Given the description of an element on the screen output the (x, y) to click on. 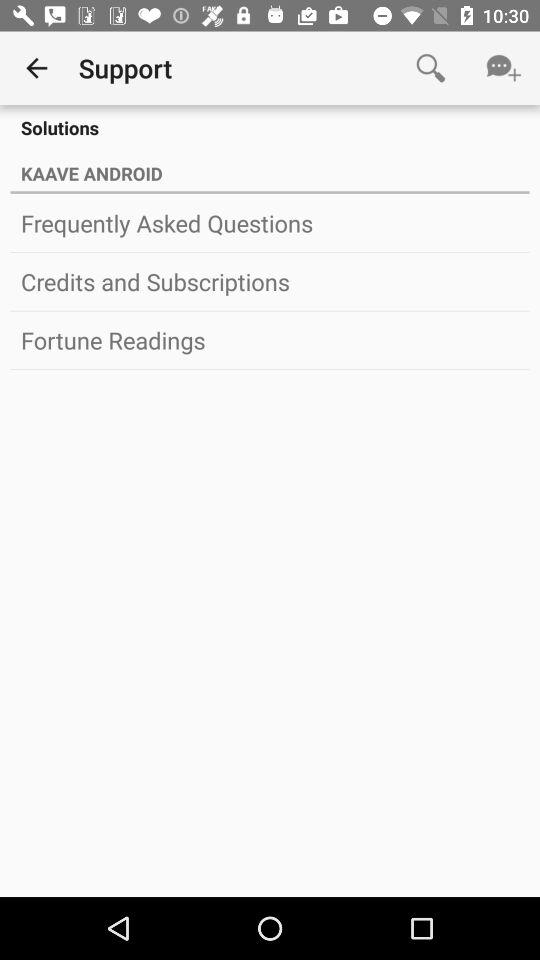
open the item above solutions item (36, 68)
